Given the description of an element on the screen output the (x, y) to click on. 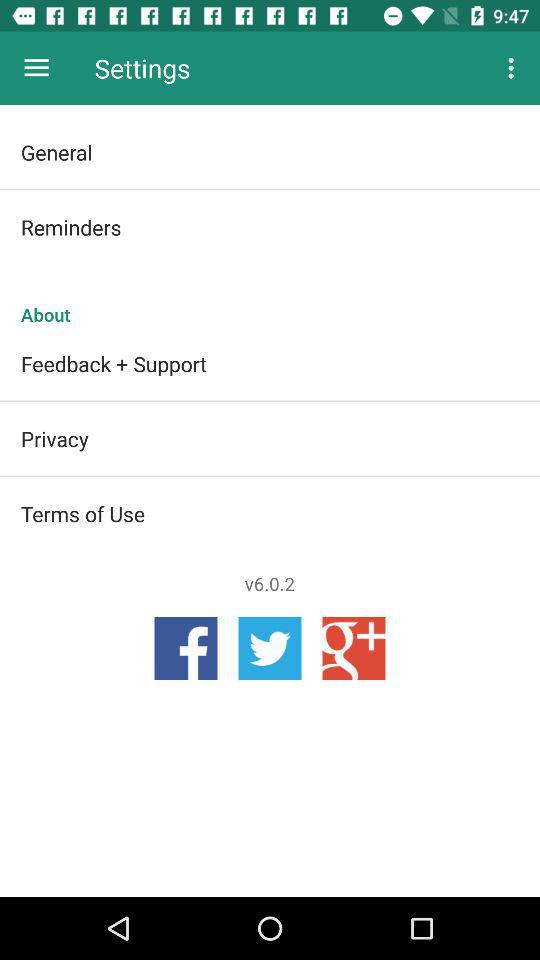
launch the item below v6.0.2 (269, 648)
